Given the description of an element on the screen output the (x, y) to click on. 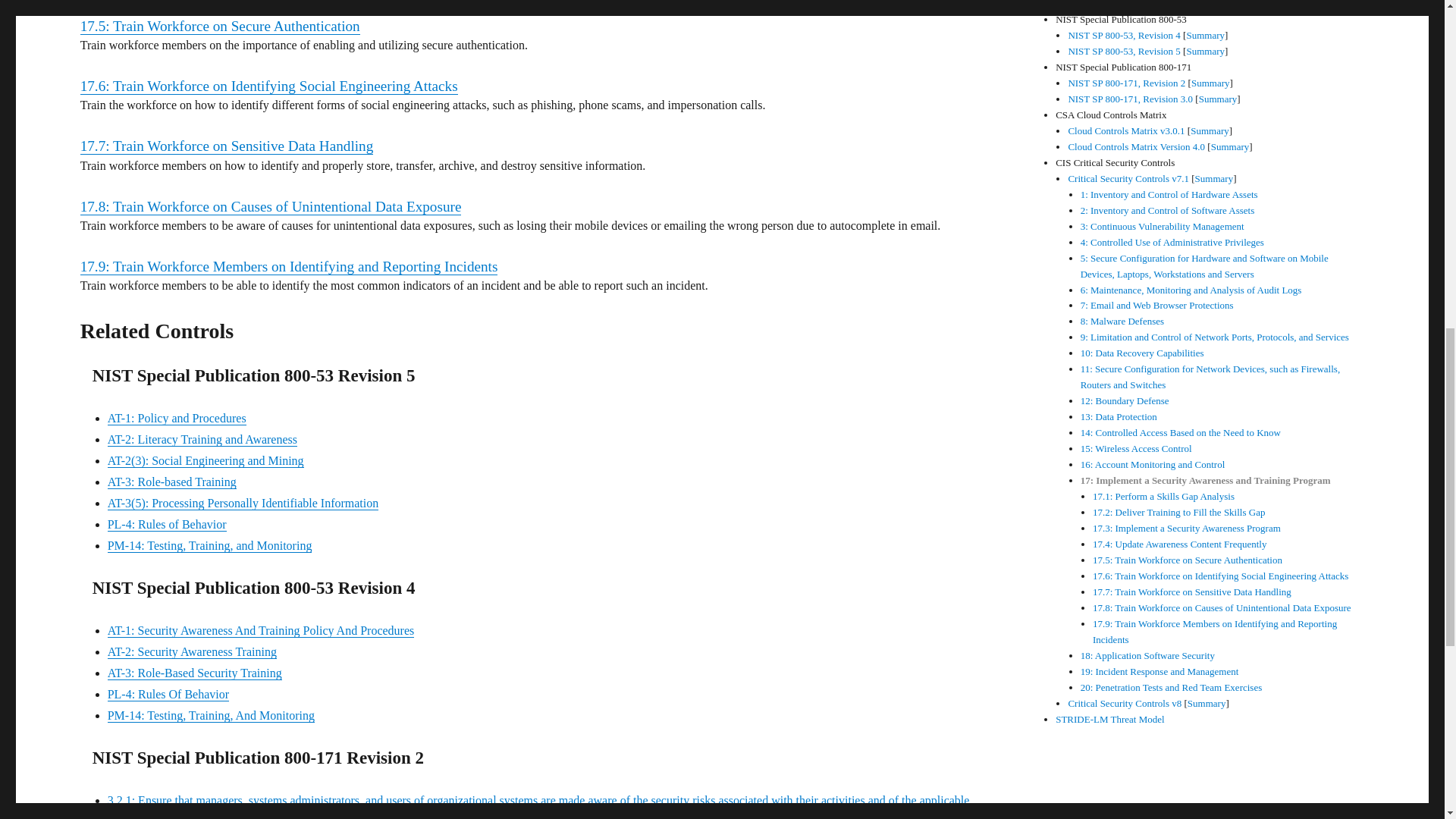
AT-2: Literacy Training and Awareness (202, 439)
17.7: Train Workforce on Sensitive Data Handling (227, 145)
AT-3: Role-based Training (171, 481)
PL-4: Rules of Behavior (167, 523)
PM-14: Testing, Training, And Monitoring (210, 715)
AT-3: Role-Based Security Training (194, 672)
PL-4: Rules Of Behavior (167, 694)
